Given the description of an element on the screen output the (x, y) to click on. 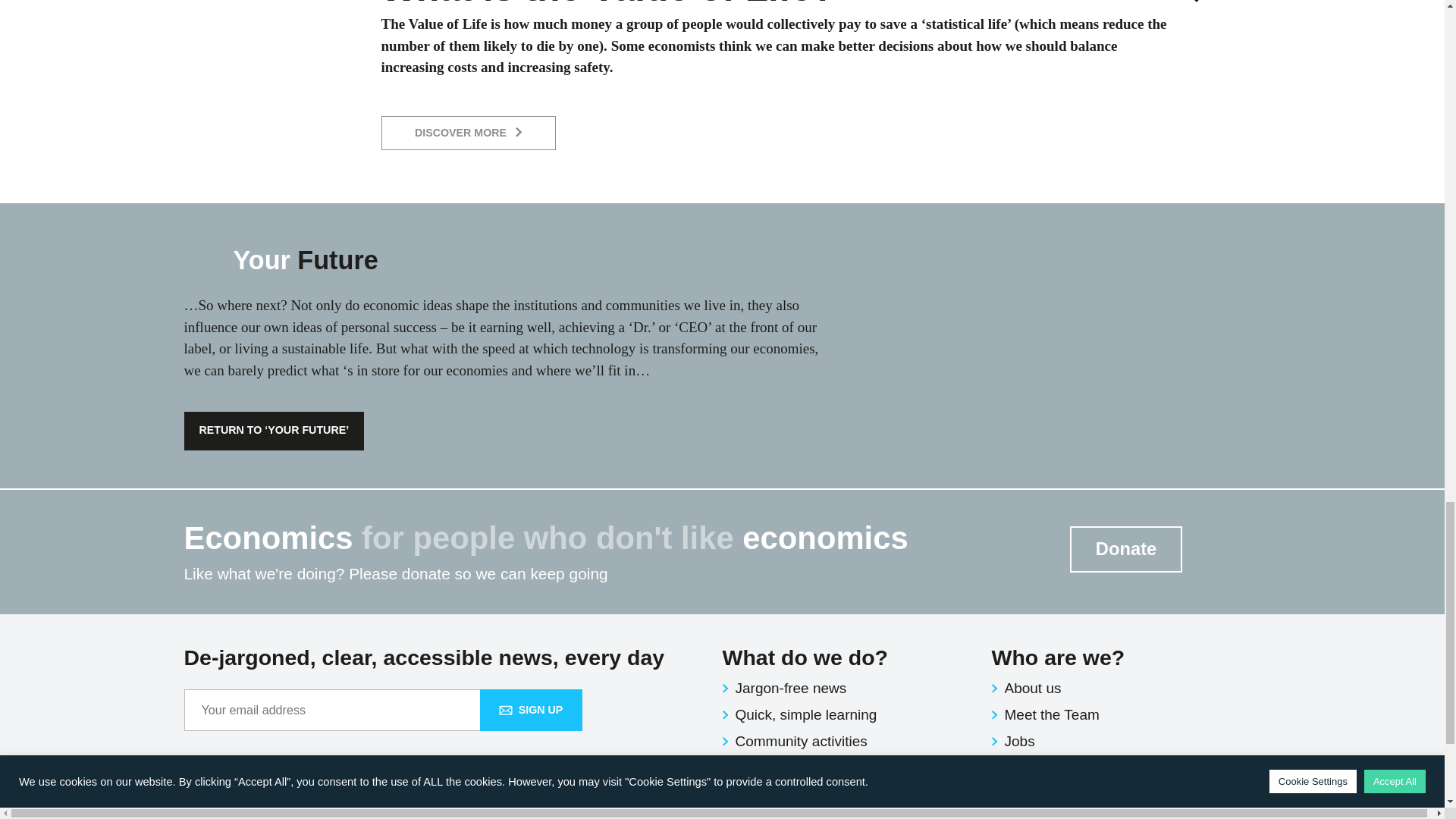
Arrow (1200, 1)
